Given the description of an element on the screen output the (x, y) to click on. 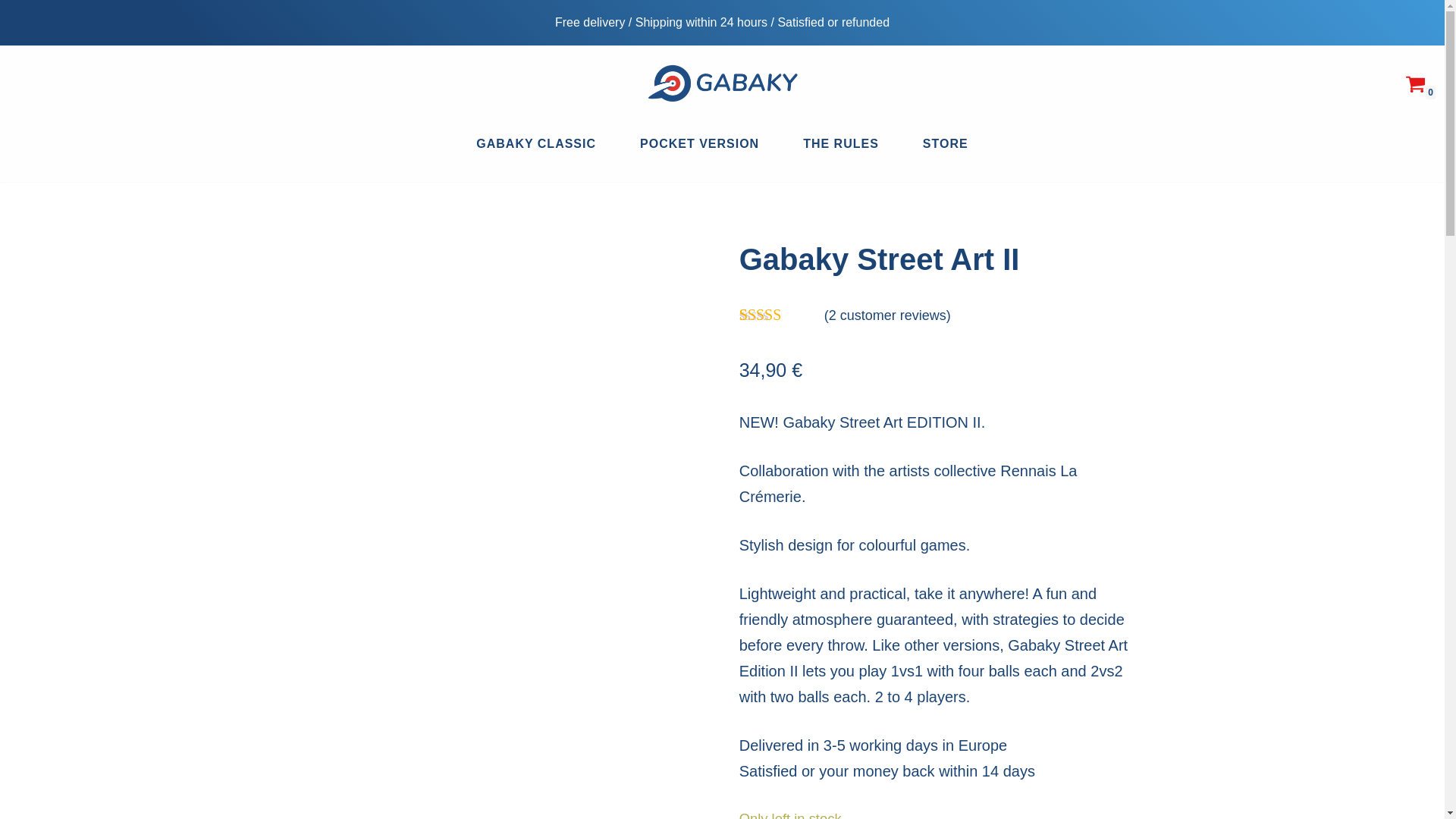
0 (1415, 82)
Skip to content (11, 31)
GABAKY CLASSIC (535, 142)
POCKET VERSION (699, 142)
THE RULES (841, 142)
STORE (945, 142)
